Given the description of an element on the screen output the (x, y) to click on. 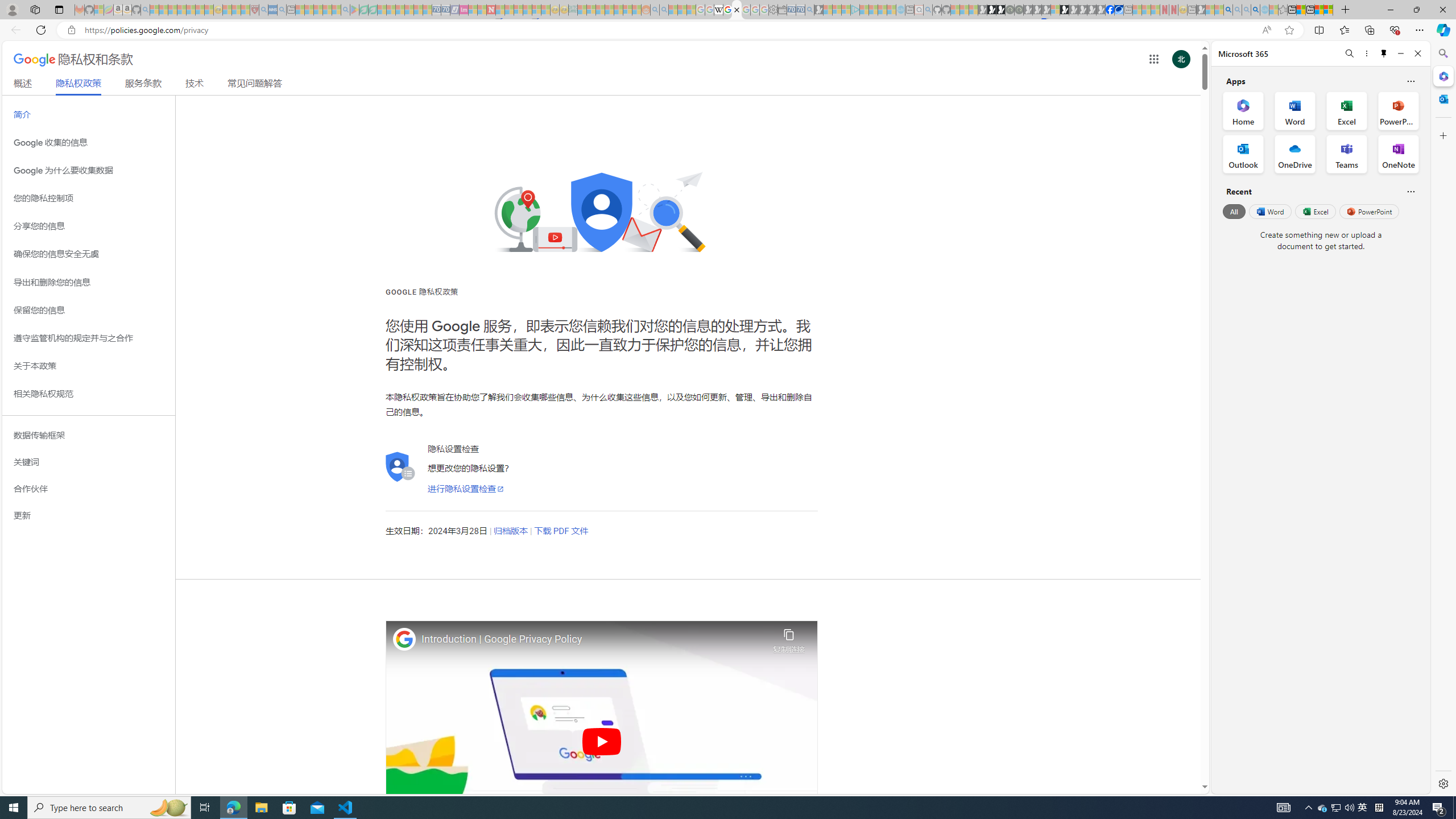
Nordace | Facebook (1109, 9)
Future Focus Report 2024 - Sleeping (1018, 9)
Bing AI - Search (1227, 9)
Excel Office App (1346, 110)
Settings - Sleeping (773, 9)
